Given the description of an element on the screen output the (x, y) to click on. 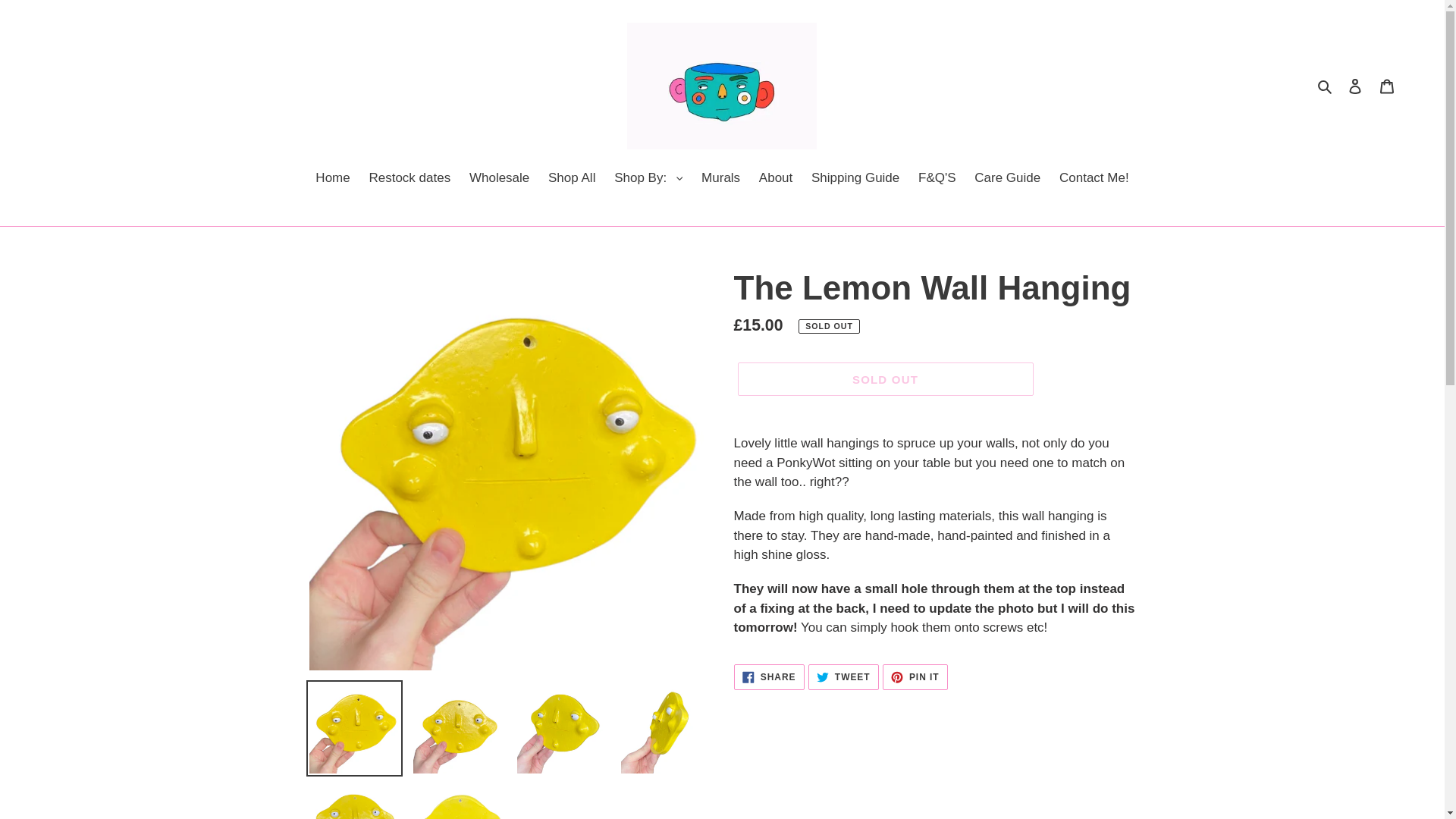
Search (1326, 86)
Home (331, 179)
Restock dates (409, 179)
Cart (1387, 86)
Log in (1355, 86)
